Given the description of an element on the screen output the (x, y) to click on. 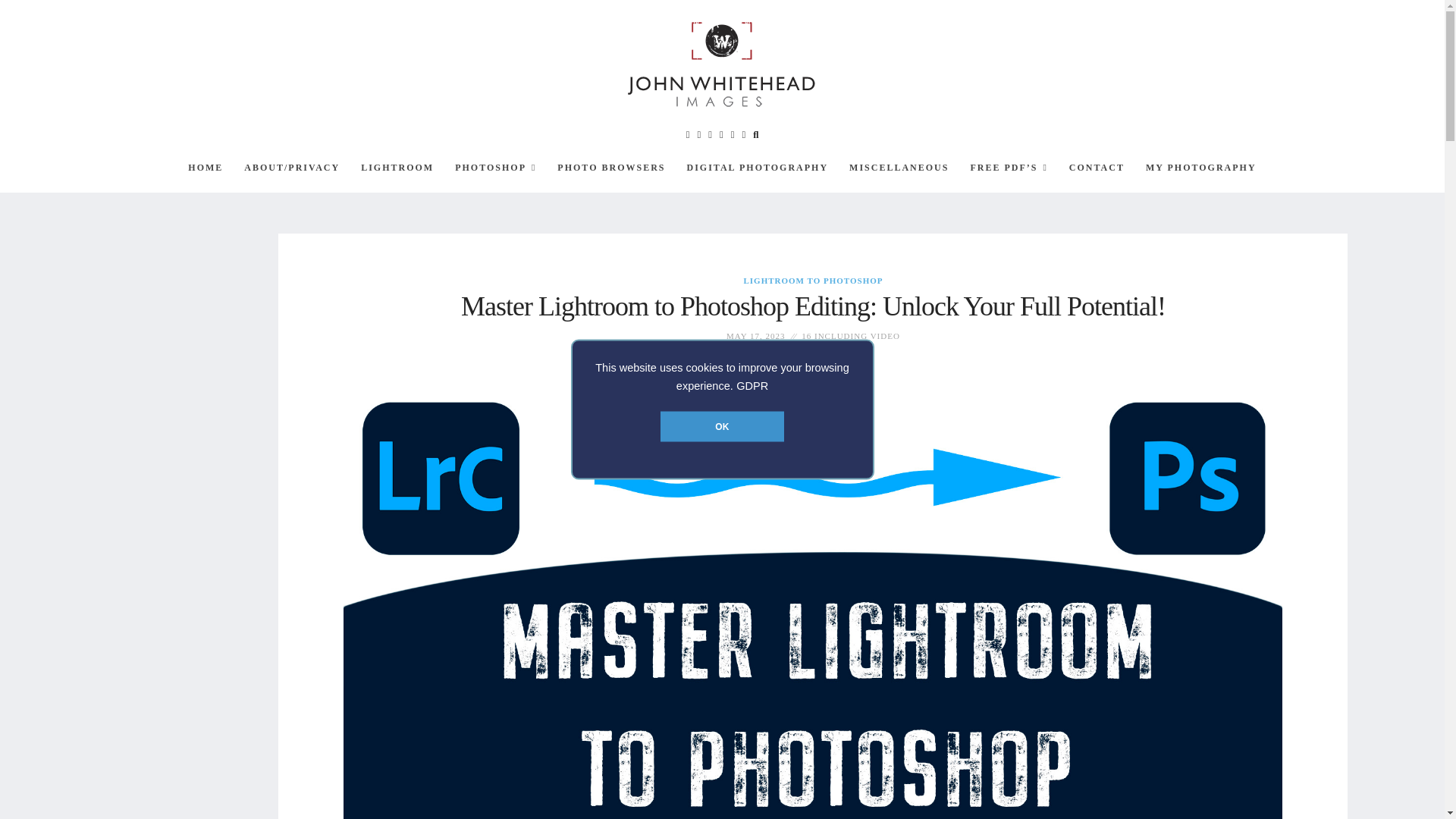
LIGHTROOM (397, 167)
PHOTOSHOP (494, 167)
OK (722, 426)
GDPR (752, 385)
